Given the description of an element on the screen output the (x, y) to click on. 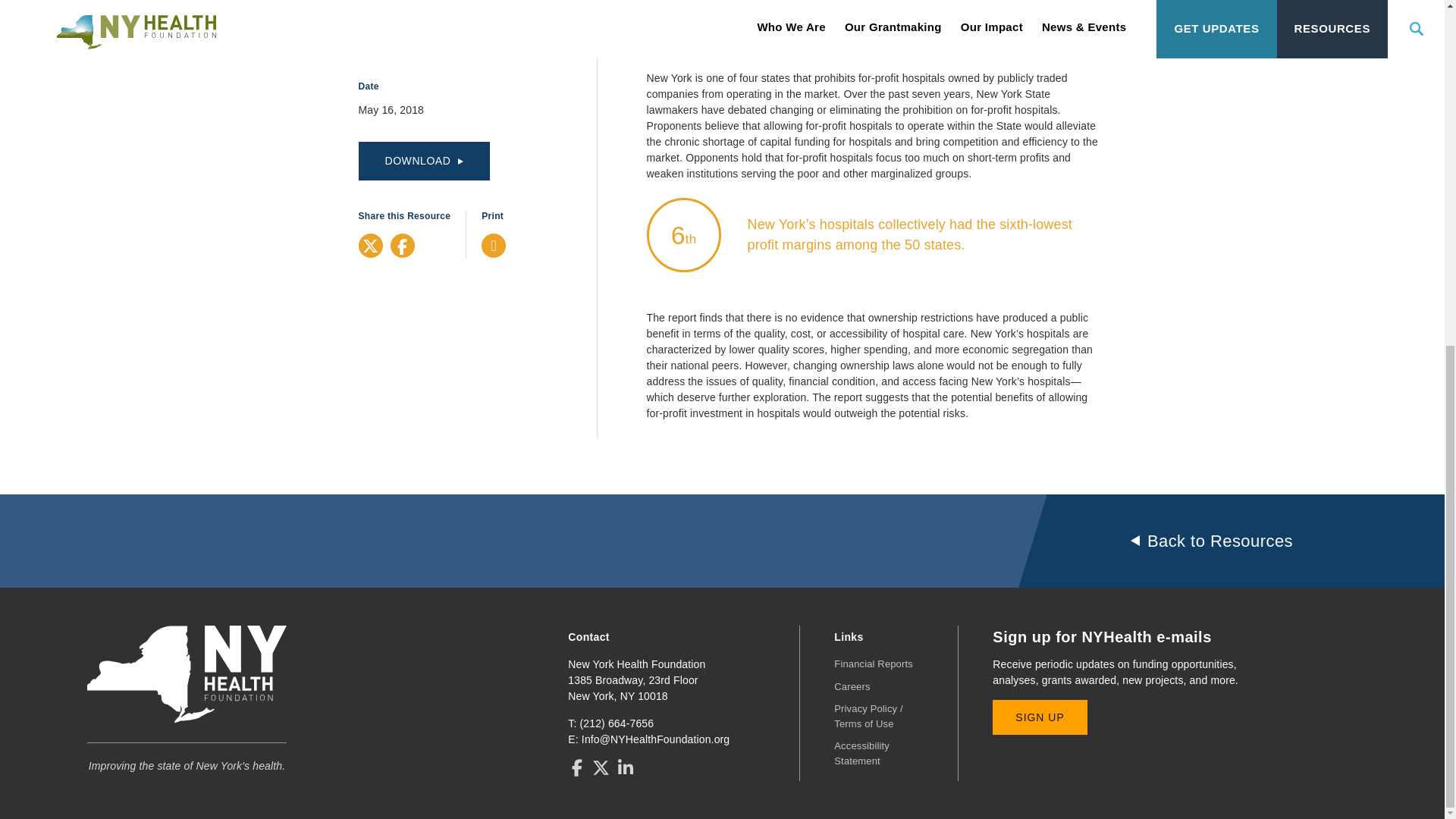
Share to Facebook (401, 245)
Twitter (370, 245)
Careers (851, 686)
Accessibility Statement (861, 753)
DOWNLOAD (423, 160)
FB (402, 246)
SIGN UP (1039, 717)
Financial Reports (873, 663)
Tweet about this on Twitter (369, 245)
